Given the description of an element on the screen output the (x, y) to click on. 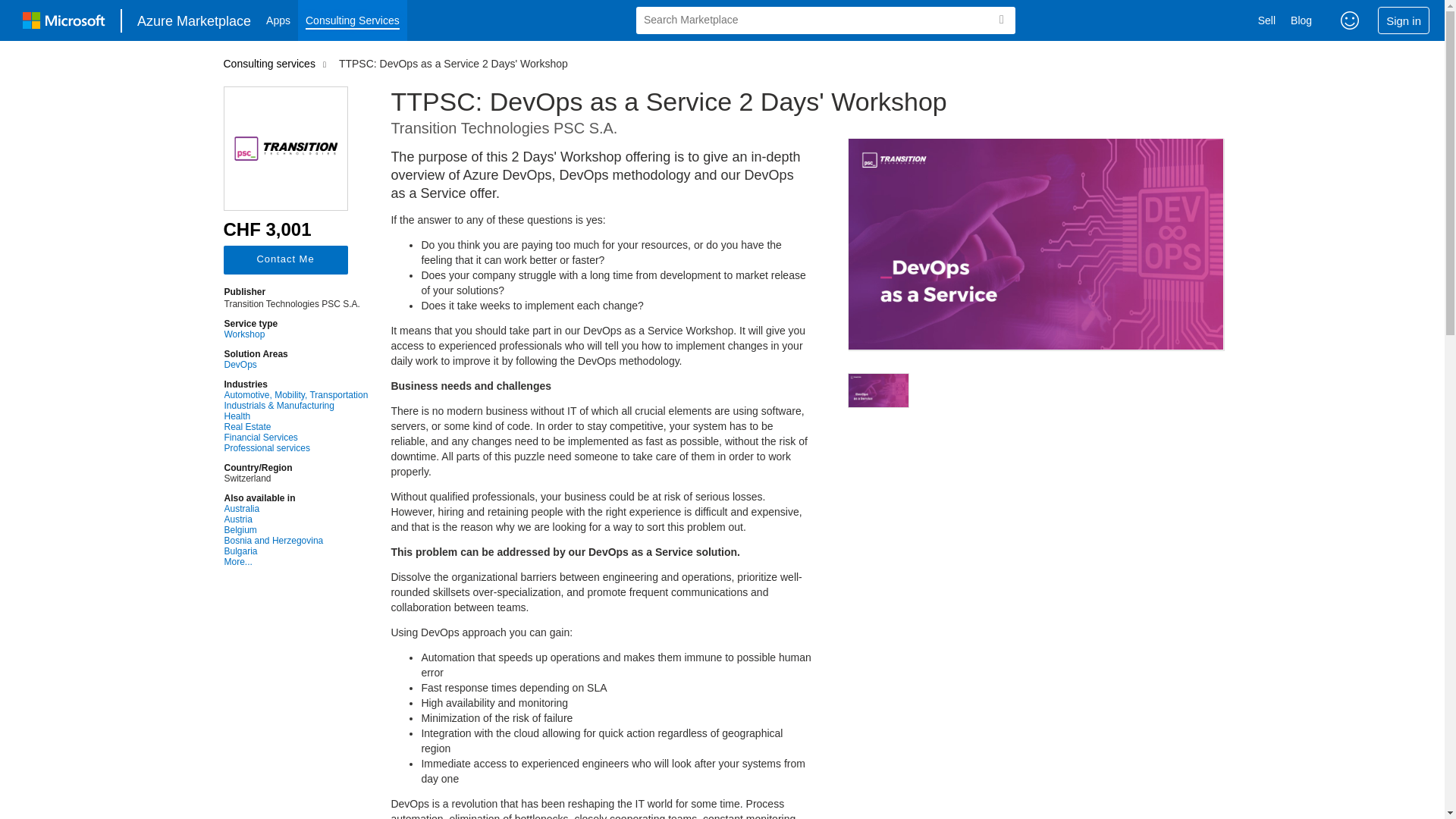
Azure Marketplace (194, 20)
Search (1001, 19)
Consulting Services (352, 20)
Sign in (1403, 20)
Blog (1300, 20)
Search  (1001, 19)
Sign in (1403, 20)
Apps (278, 20)
Feedback (1349, 20)
